Given the description of an element on the screen output the (x, y) to click on. 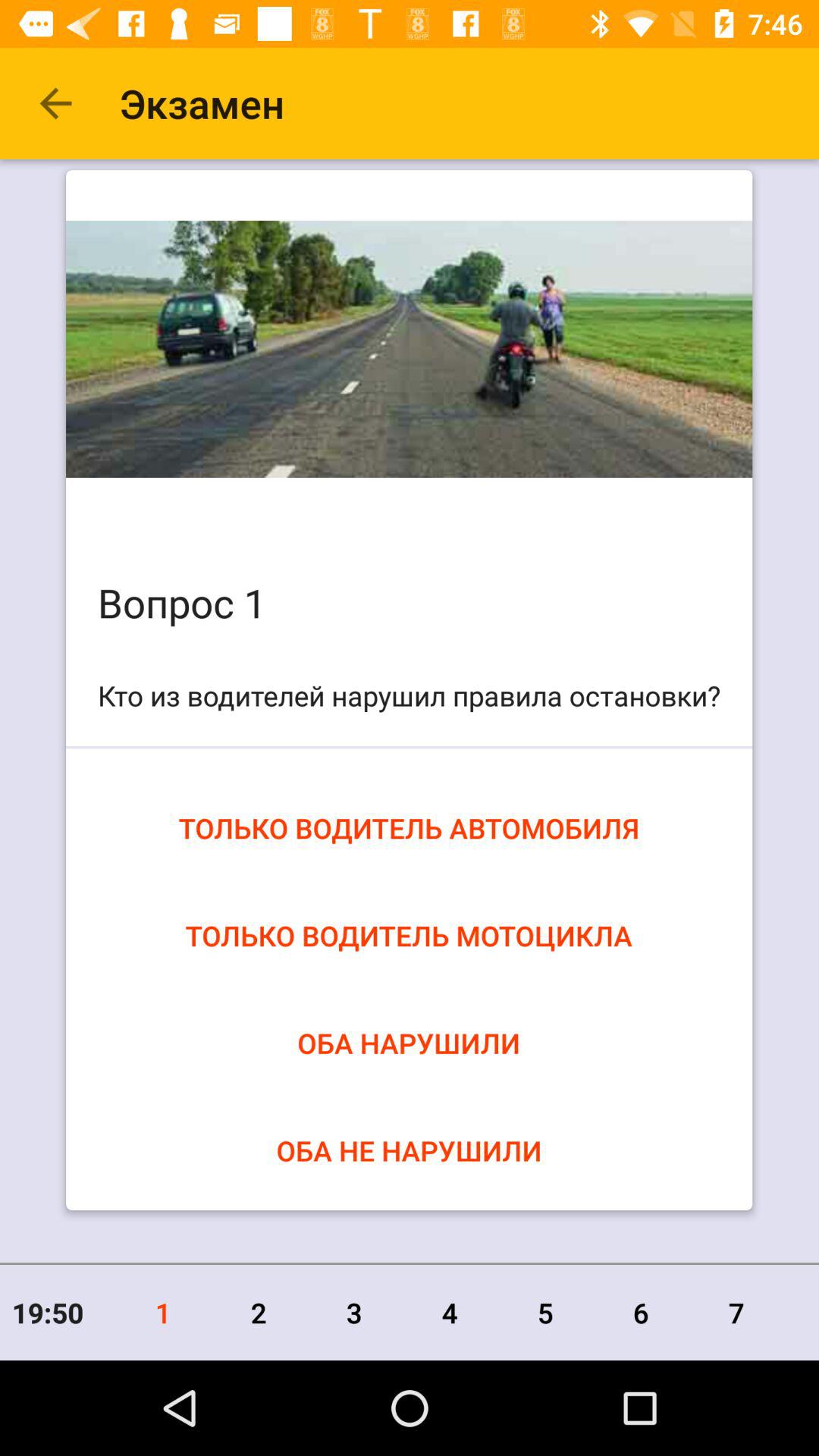
open the item to the left of 6 (545, 1312)
